Given the description of an element on the screen output the (x, y) to click on. 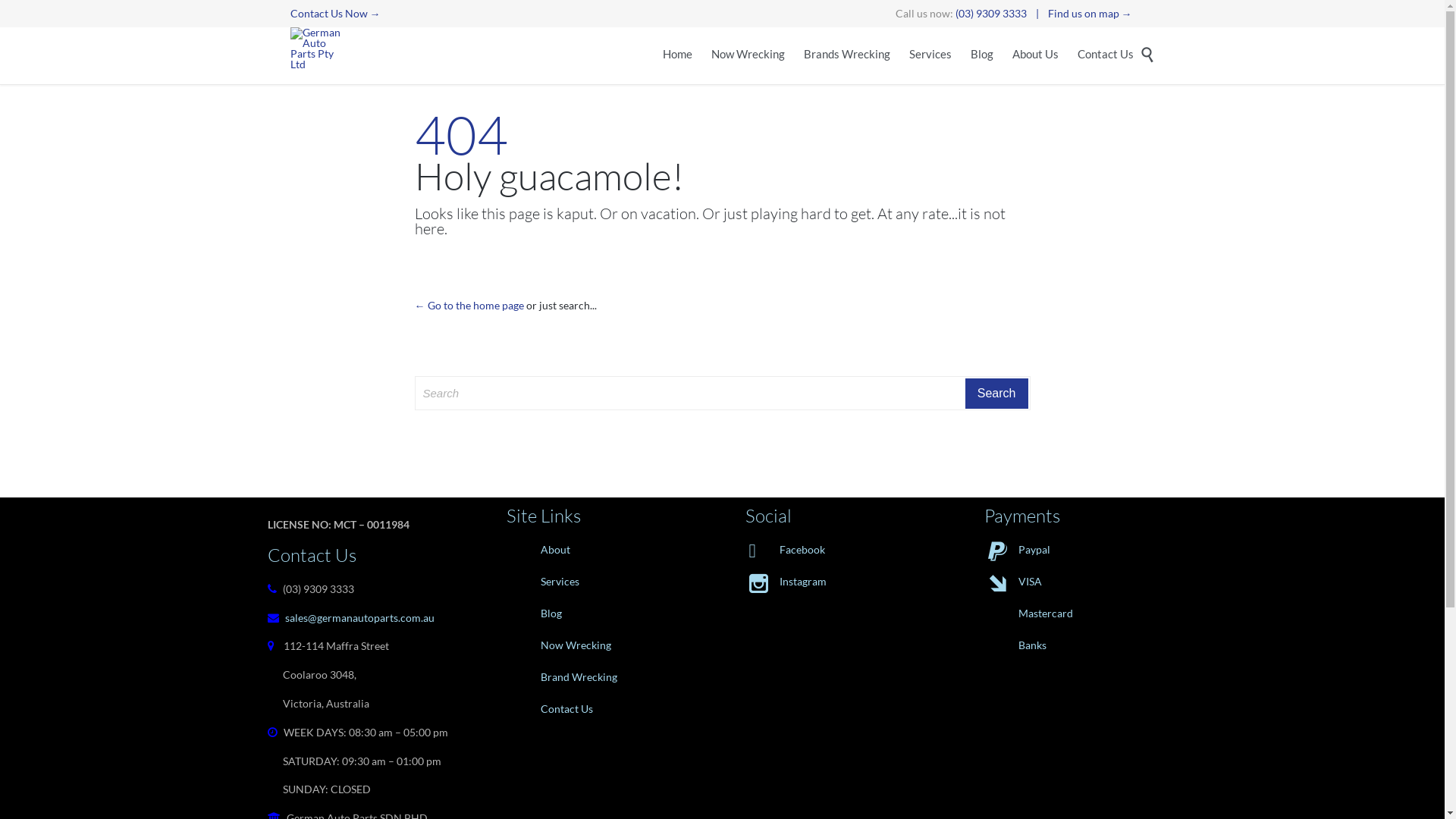
(03) 9309 3333 Element type: text (990, 12)
Search Element type: text (996, 393)
Now Wrecking Element type: text (602, 645)
Services Element type: text (929, 55)
Home Element type: text (677, 55)
Blog Element type: text (602, 613)
Brand Wrecking Element type: text (602, 677)
About Us Element type: text (1034, 55)
German Auto Parts Pty Ltd Element type: hover (318, 48)
Contact Us Element type: text (1104, 55)
Skip to content Element type: text (1143, 40)
Brands Wrecking Element type: text (846, 55)
Contact Us Element type: text (602, 708)
Services Element type: text (602, 581)
Mastercard Element type: text (1080, 613)
Now Wrecking Element type: text (747, 55)
Blog Element type: text (981, 55)
About Element type: text (602, 549)
   |    Element type: text (1037, 12)
Banks Element type: text (1080, 645)
sales@germanautoparts.com.au Element type: text (359, 617)
